Given the description of an element on the screen output the (x, y) to click on. 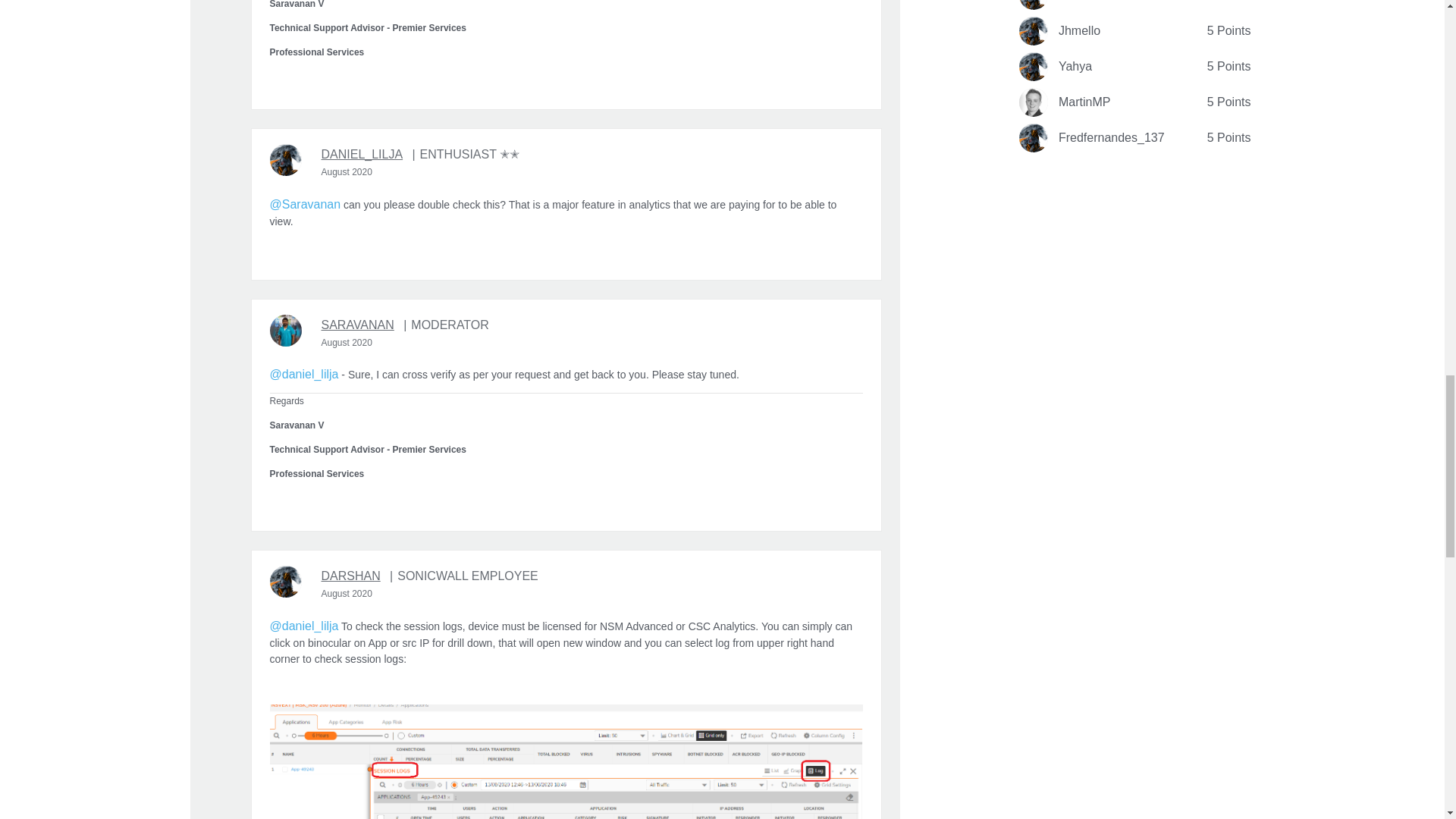
August 12 2020 05:17pm (346, 172)
Moderator - Tech and Support, Beta, Partners (446, 325)
August 12 2020 05:20pm (346, 342)
Darshan (285, 581)
SonicWall Employee (463, 576)
Saravanan (285, 330)
Code Name Boston Terrier (465, 154)
